Given the description of an element on the screen output the (x, y) to click on. 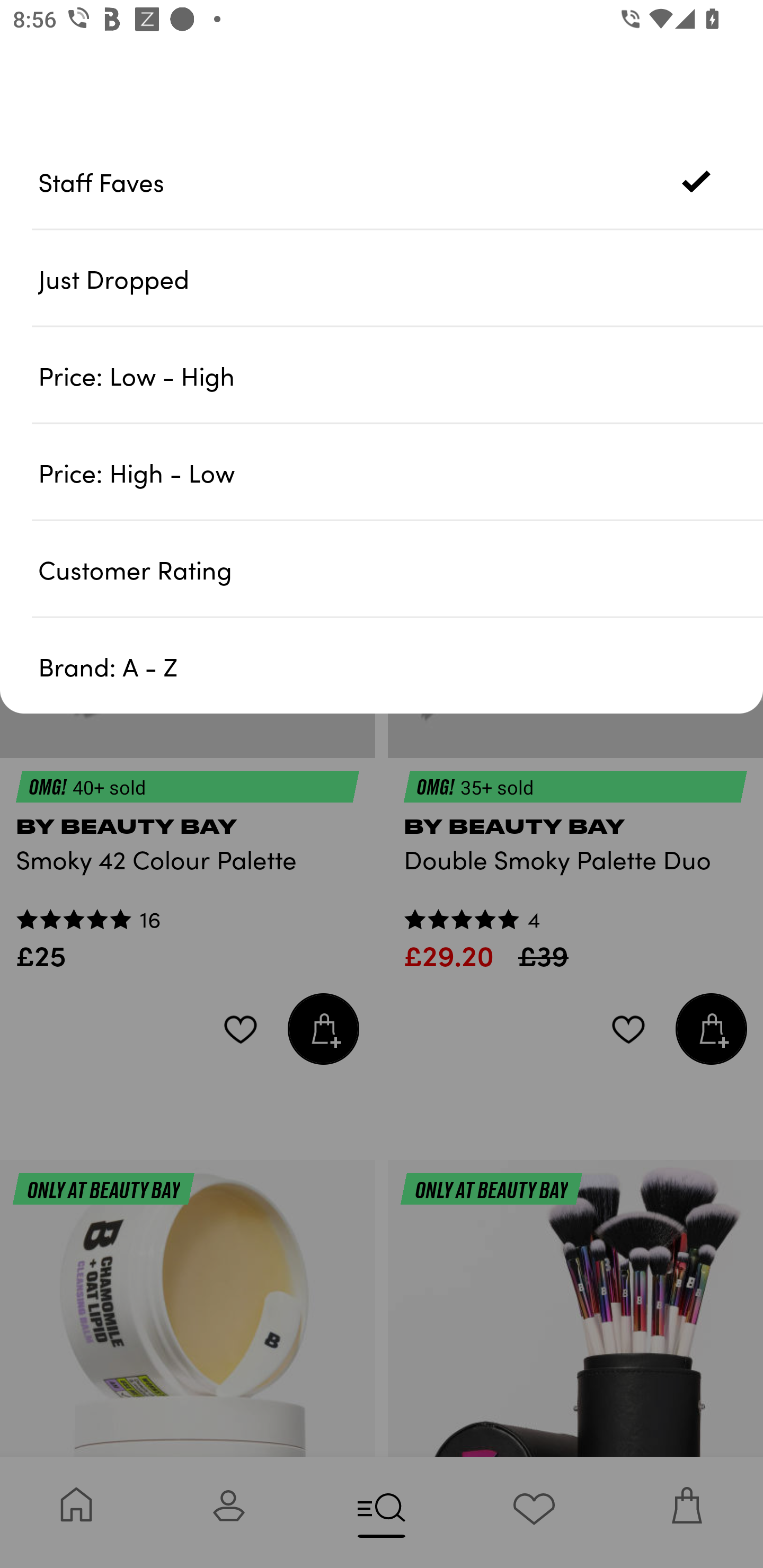
Staff Faves (400, 180)
Just Dropped (400, 278)
Price: Low - High (400, 375)
Price: High - Low (400, 471)
Customer Rating (400, 568)
Brand: A - Z (400, 665)
